Given the description of an element on the screen output the (x, y) to click on. 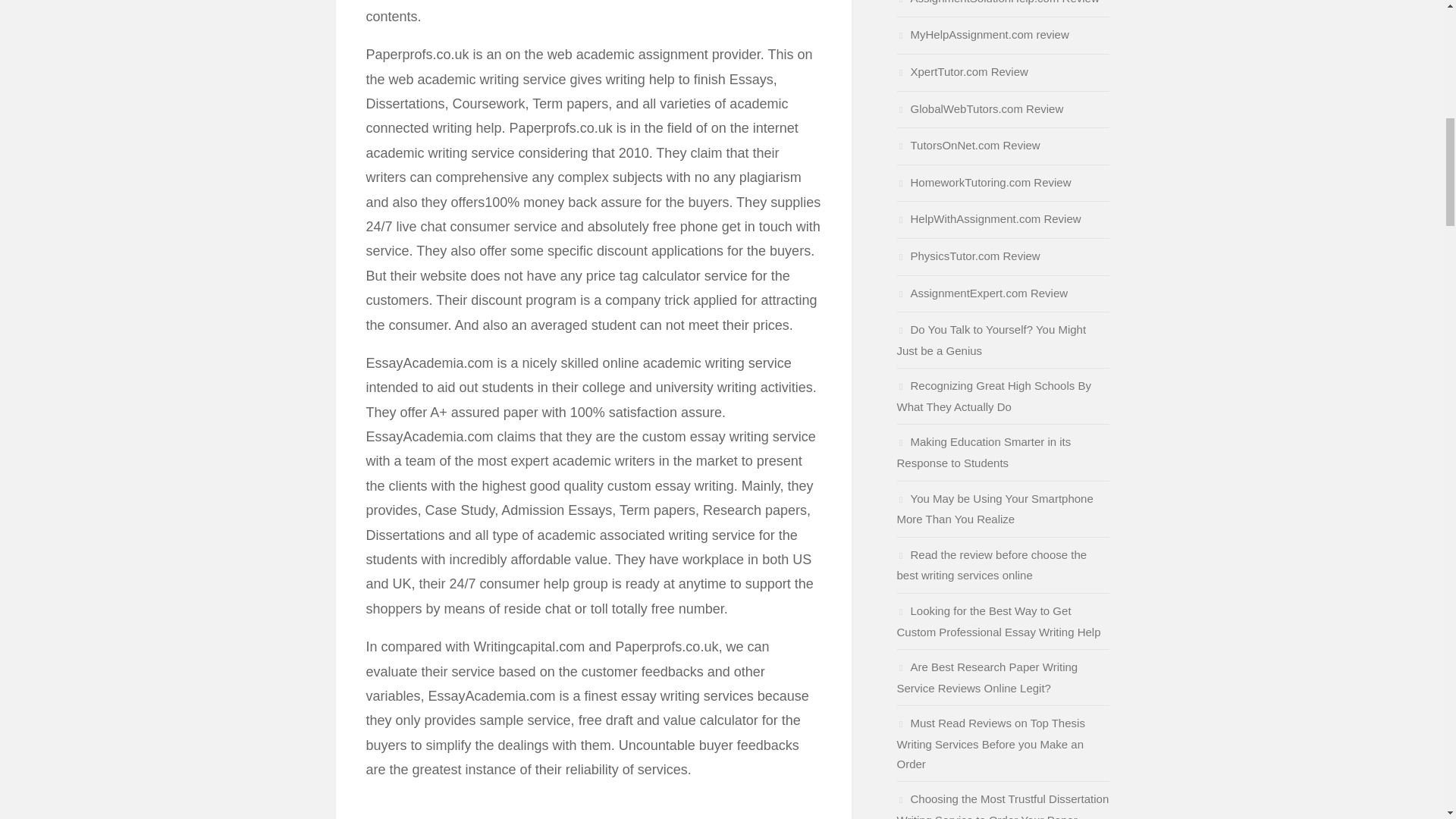
AssignmentSolutionHelp.com Review (997, 2)
HelpWithAssignment.com Review (988, 218)
AssignmentExpert.com Review (981, 292)
You May be Using Your Smartphone More Than You Realize (994, 509)
MyHelpAssignment.com review (982, 33)
Making Education Smarter in its Response to Students (983, 451)
XpertTutor.com Review (961, 71)
PhysicsTutor.com Review (967, 255)
Do You Talk to Yourself? You Might Just be a Genius (991, 339)
GlobalWebTutors.com Review (979, 108)
TutorsOnNet.com Review (967, 144)
